Given the description of an element on the screen output the (x, y) to click on. 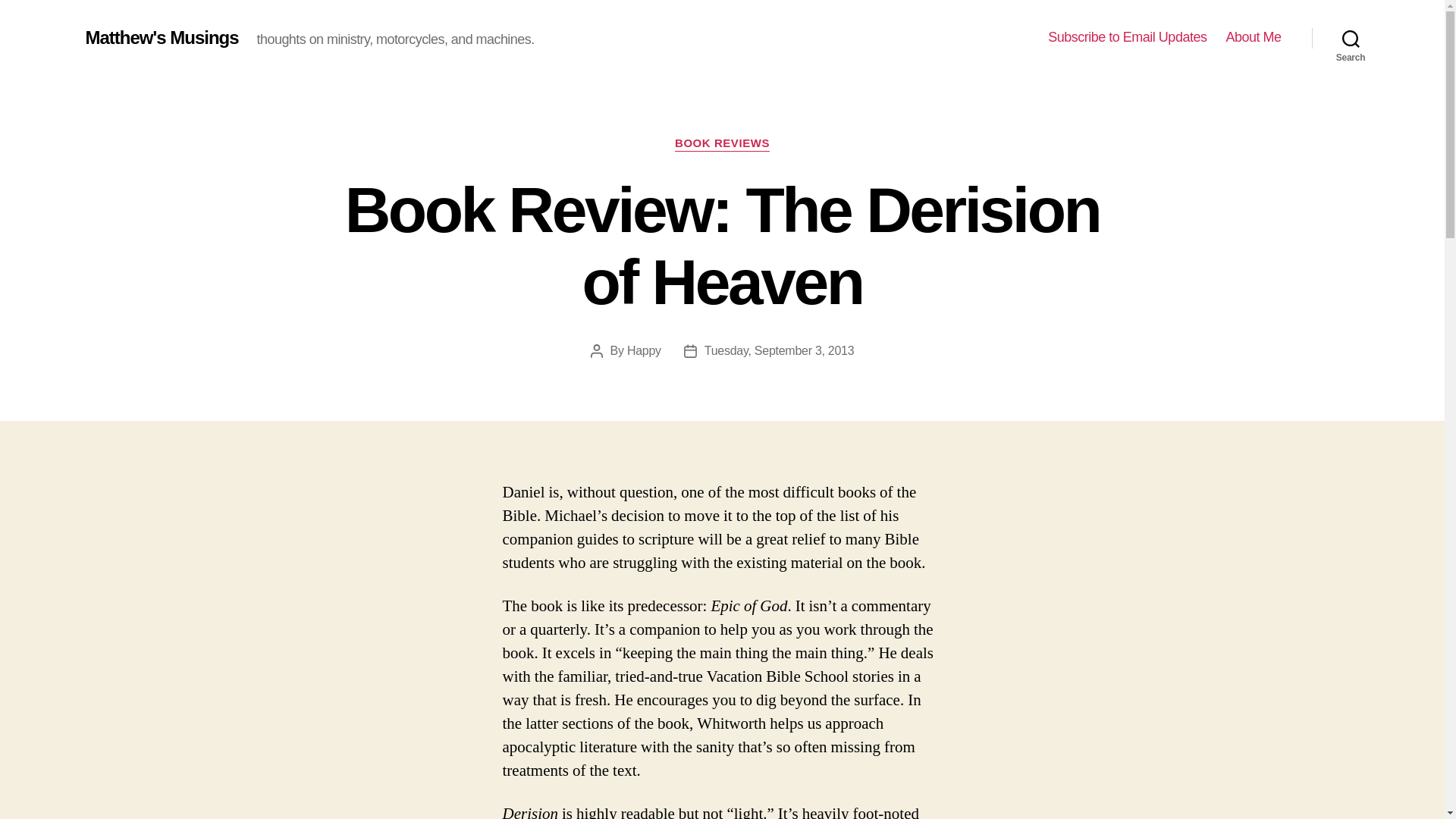
Subscribe to Email Updates (1127, 37)
BOOK REVIEWS (722, 143)
Tuesday, September 3, 2013 (779, 350)
About Me (1253, 37)
Happy (644, 350)
Search (1350, 37)
Matthew's Musings (161, 37)
